Given the description of an element on the screen output the (x, y) to click on. 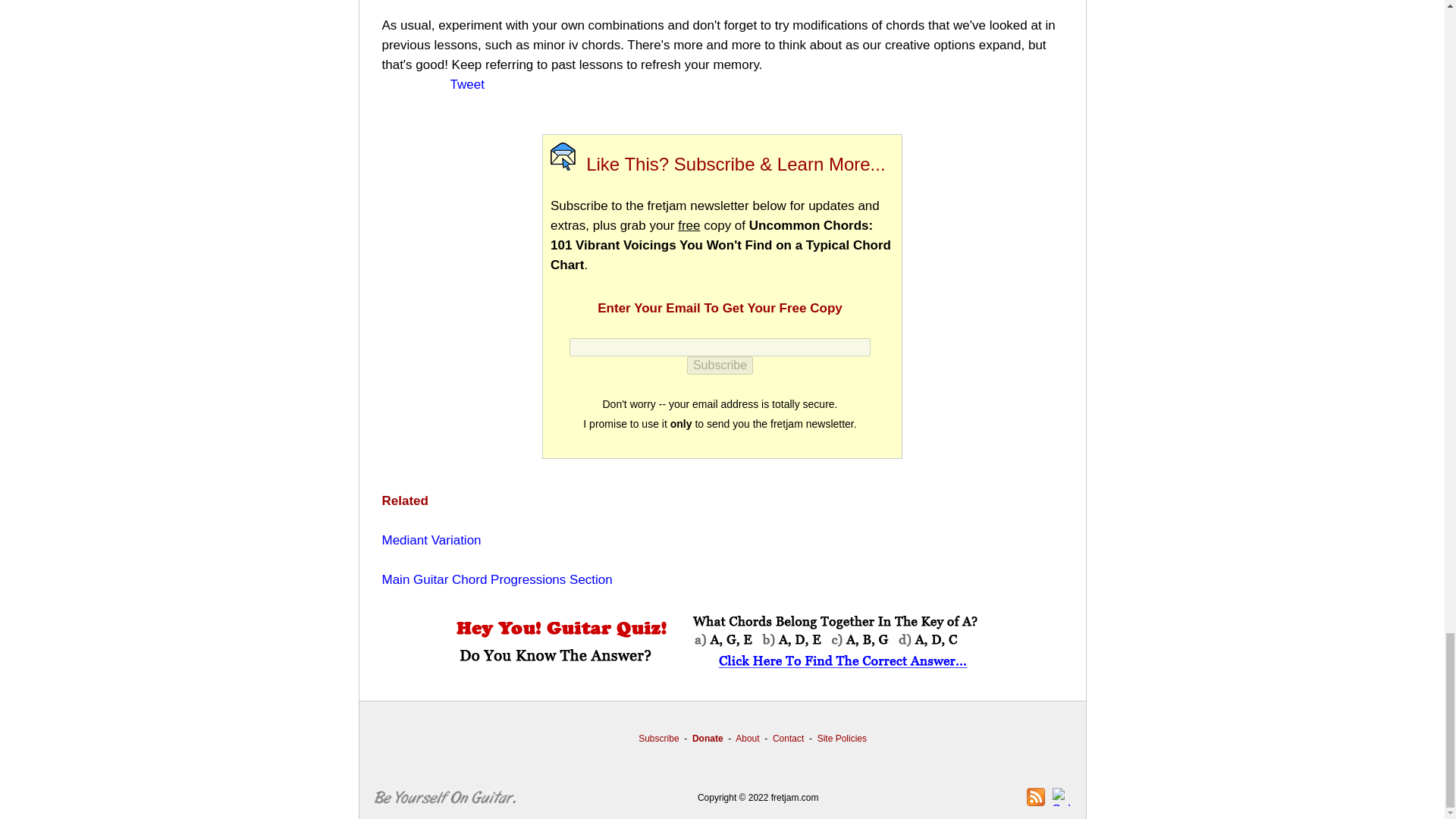
Subscribe to fretjam's YouTube channel (1061, 796)
Tweet (466, 83)
hit for the answer (721, 643)
Subscribe (658, 738)
Subscribe (719, 365)
Contact (788, 738)
subscribe to fretjam's RSS feed (1035, 796)
About (746, 738)
Donate (708, 738)
Site Policies (841, 738)
Mediant Variation (431, 540)
Main Guitar Chord Progressions Section (496, 579)
Subscribe (719, 365)
